Given the description of an element on the screen output the (x, y) to click on. 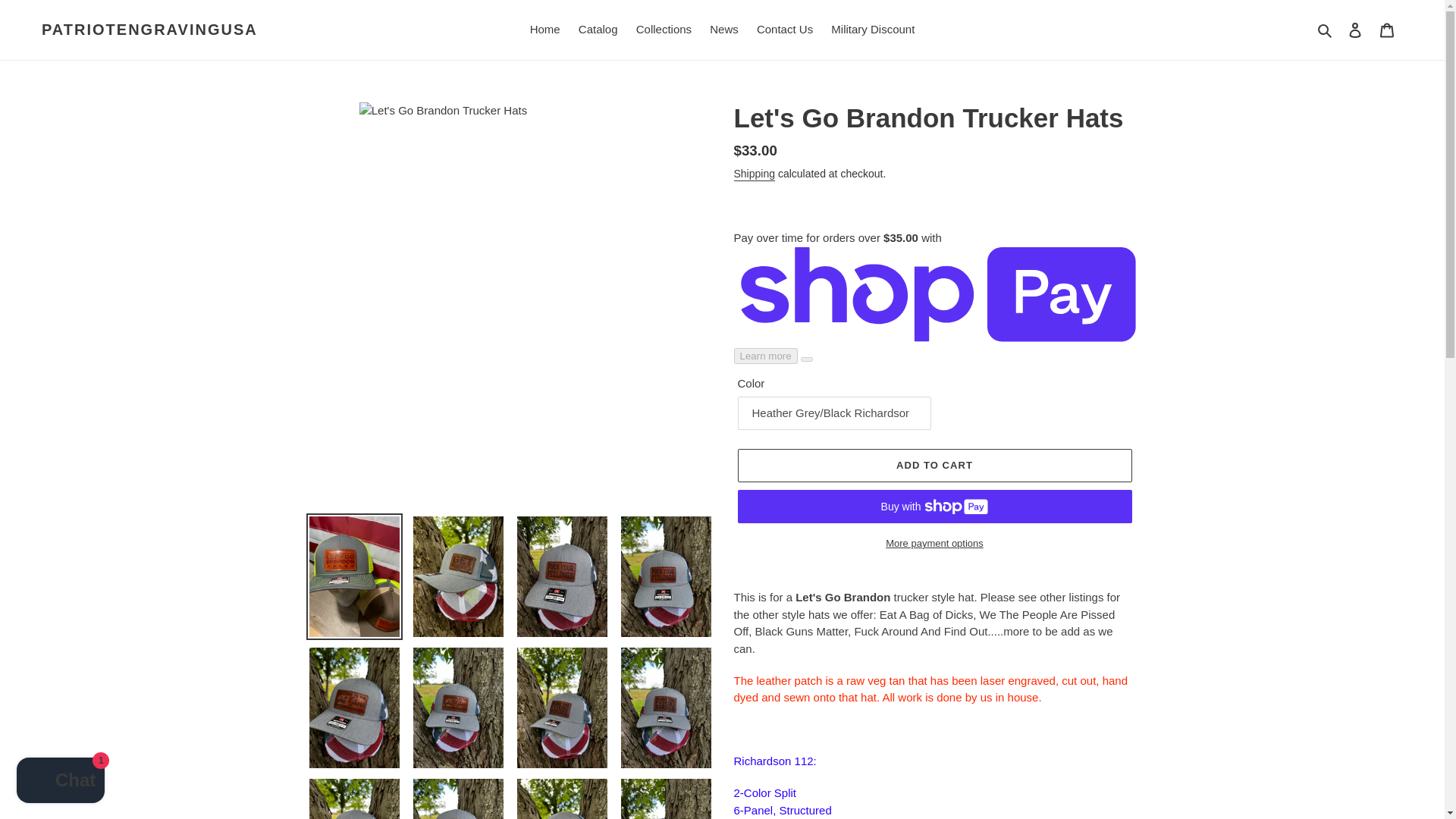
Military Discount (872, 29)
News (723, 29)
Catalog (598, 29)
Collections (663, 29)
PATRIOTENGRAVINGUSA (149, 29)
Shopify online store chat (60, 781)
Search (1326, 29)
Cart (1387, 29)
Log in (1355, 29)
Home (544, 29)
Contact Us (785, 29)
